Given the description of an element on the screen output the (x, y) to click on. 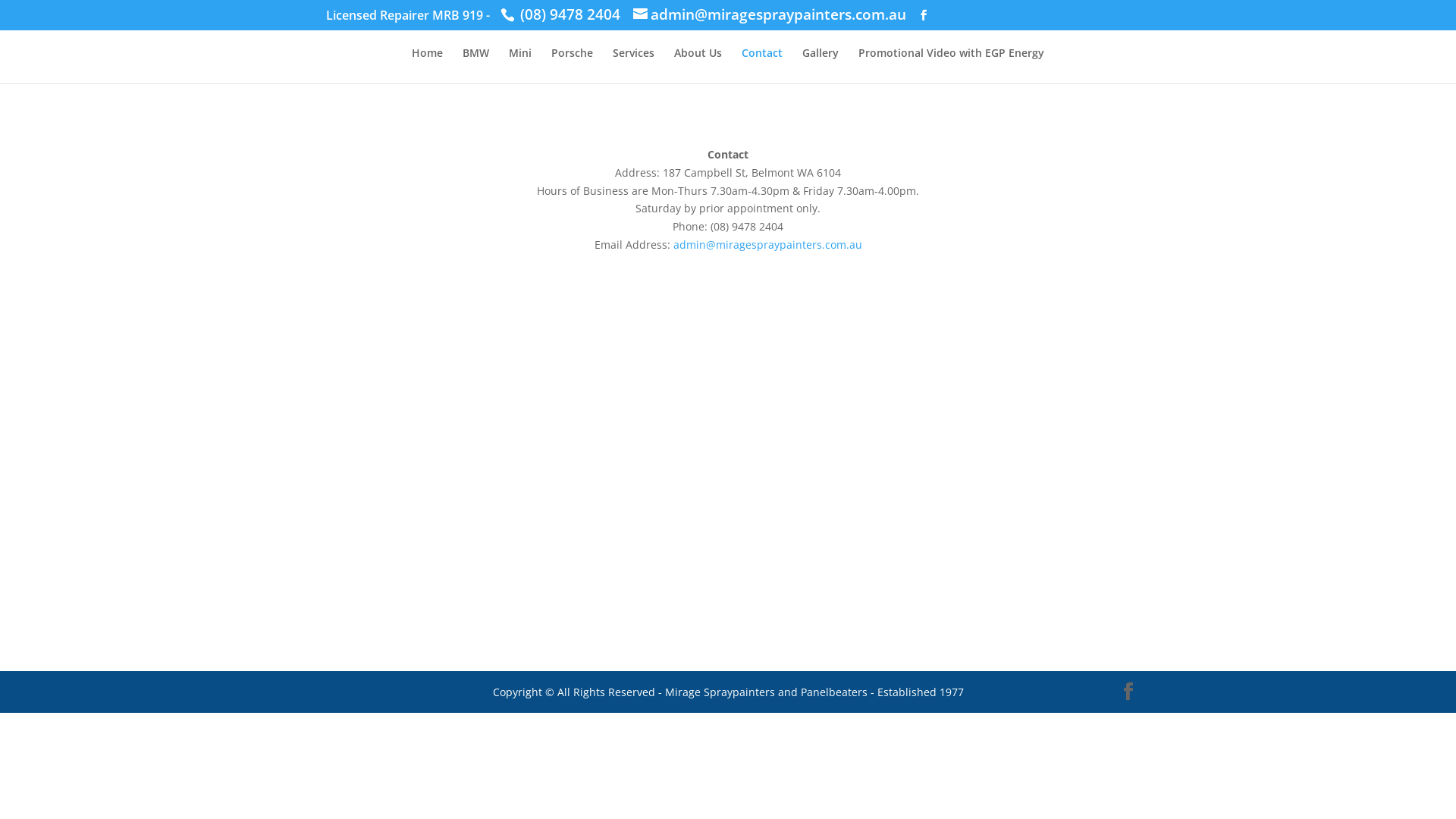
Services Element type: text (633, 65)
Promotional Video with EGP Energy Element type: text (951, 65)
admin@miragespraypainters.com.au Element type: text (769, 14)
Contact Element type: text (761, 65)
BMW Element type: text (475, 65)
Mini Element type: text (519, 65)
Porsche Element type: text (572, 65)
About Us Element type: text (697, 65)
admin@miragespraypainters.com.au Element type: text (767, 244)
Gallery Element type: text (820, 65)
Home Element type: text (426, 65)
